Given the description of an element on the screen output the (x, y) to click on. 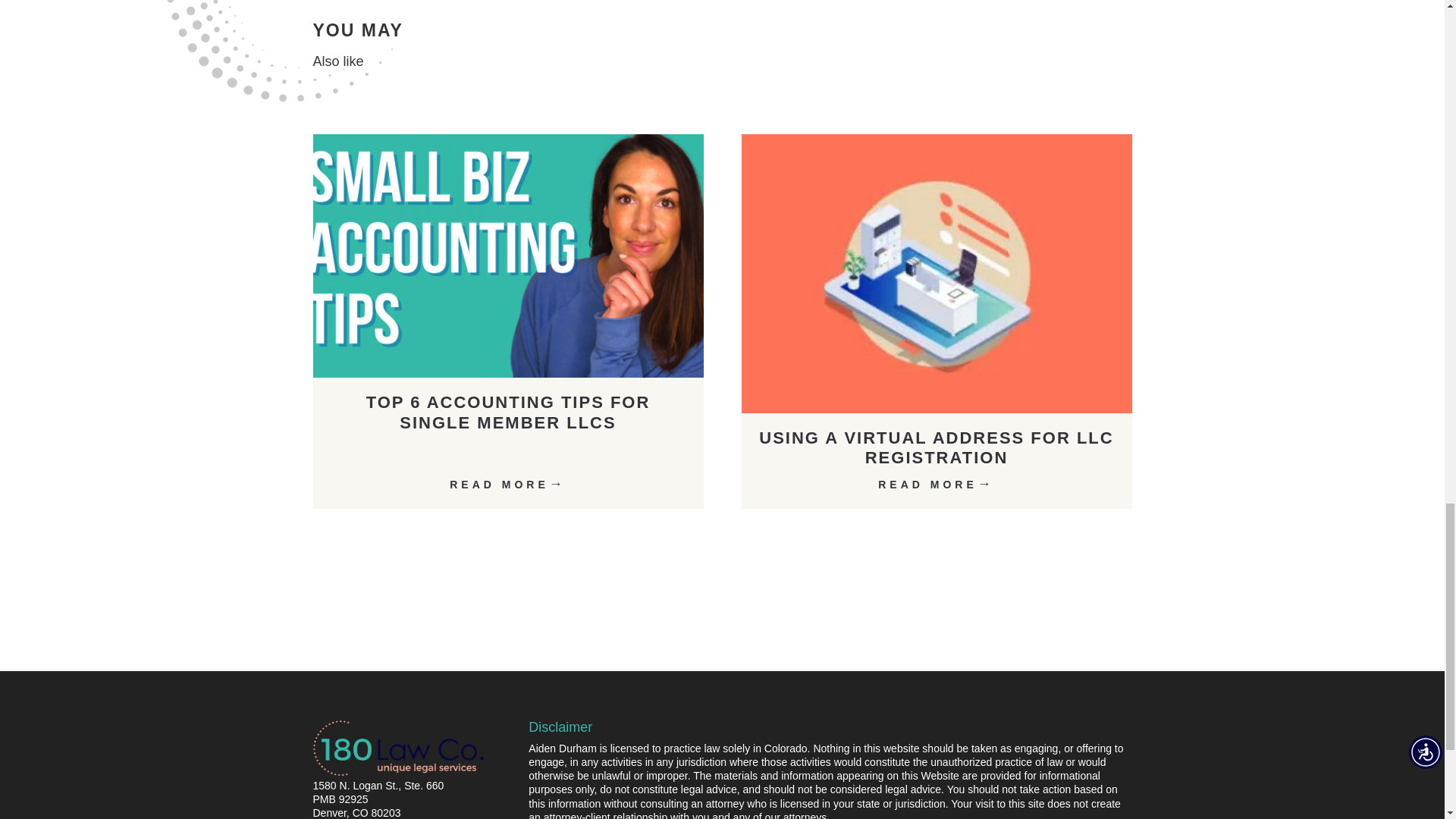
flowers4 (279, 50)
